Given the description of an element on the screen output the (x, y) to click on. 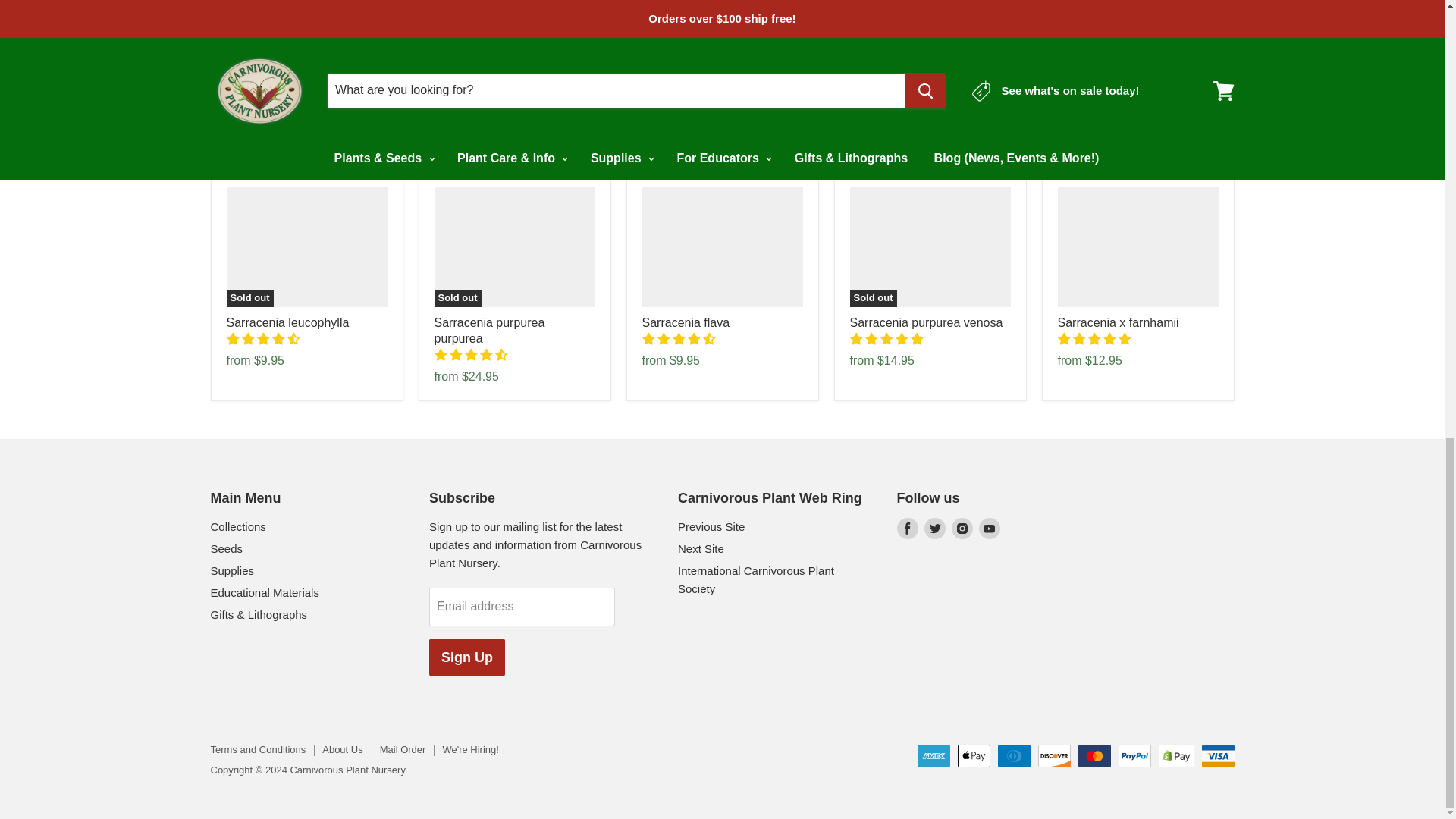
Youtube (989, 528)
Instagram (961, 528)
Facebook (906, 528)
Twitter (933, 528)
